Given the description of an element on the screen output the (x, y) to click on. 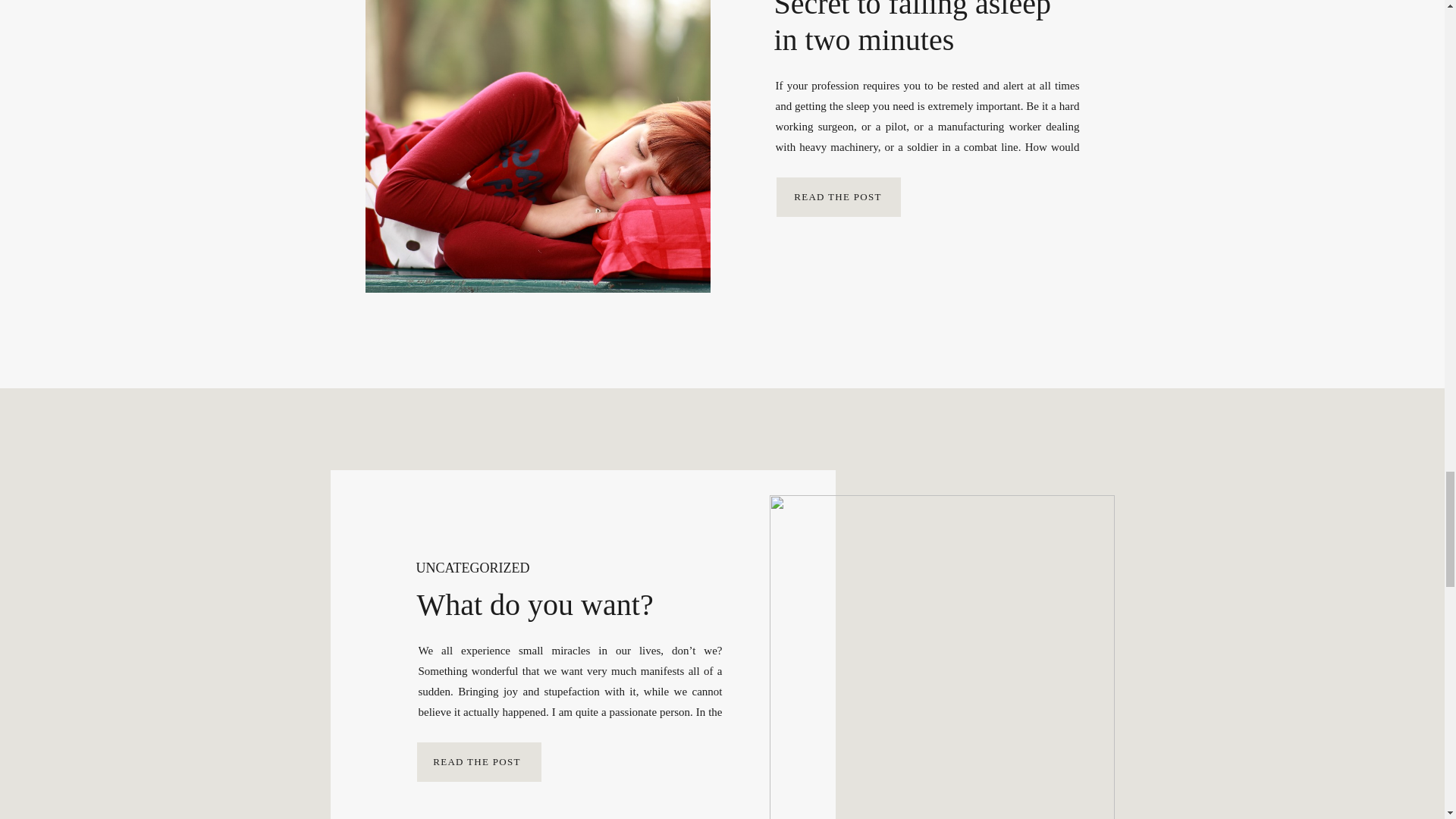
Secret to falling asleep in two minutes (838, 197)
What do you want? (940, 657)
What do you want? (477, 761)
Secret to falling asleep in two minutes (838, 196)
What do you want? (478, 762)
Secret to falling asleep in two minutes (537, 146)
